Given the description of an element on the screen output the (x, y) to click on. 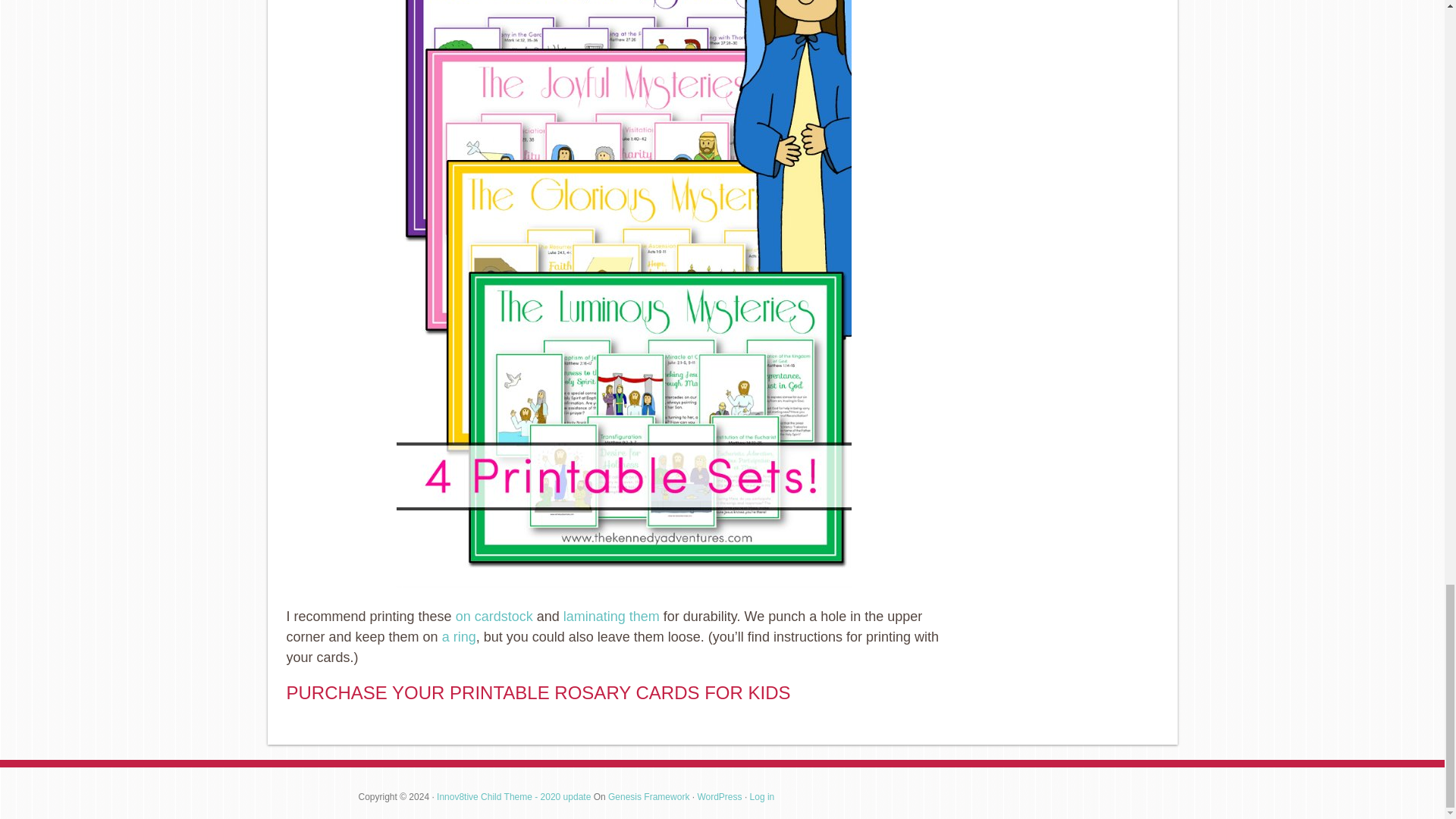
PURCHASE YOUR PRINTABLE ROSARY CARDS FOR KIDS (538, 692)
Genesis Framework (648, 796)
Log in (761, 796)
WordPress (719, 796)
laminating them (611, 615)
Innov8tive Child Theme - 2020 update (513, 796)
a ring (459, 636)
on cardstock (493, 615)
